Given the description of an element on the screen output the (x, y) to click on. 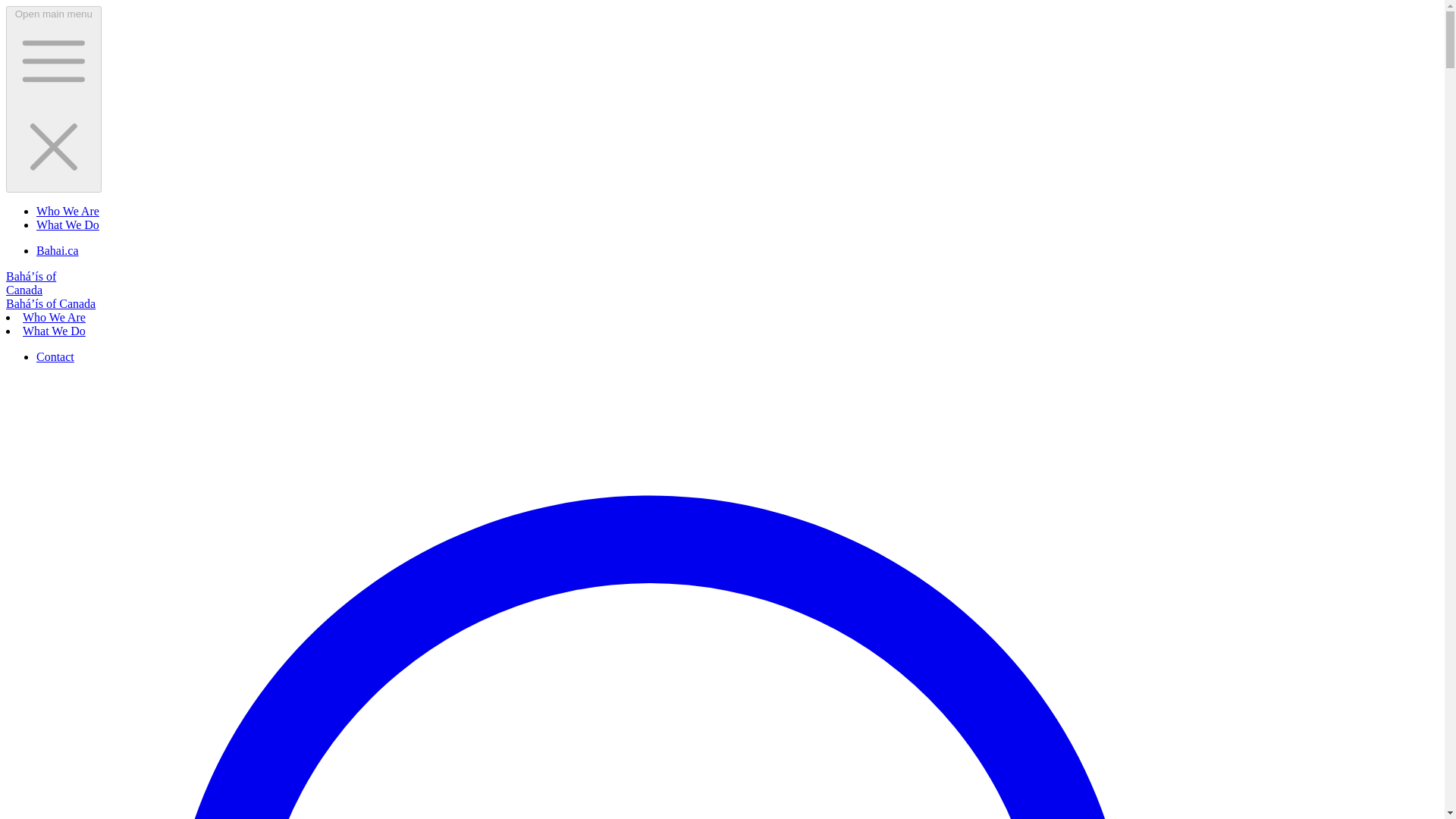
Contact (55, 356)
Who We Are (54, 317)
Bahai.ca (57, 250)
What We Do (67, 224)
Who We Are (67, 210)
What We Do (54, 330)
